Given the description of an element on the screen output the (x, y) to click on. 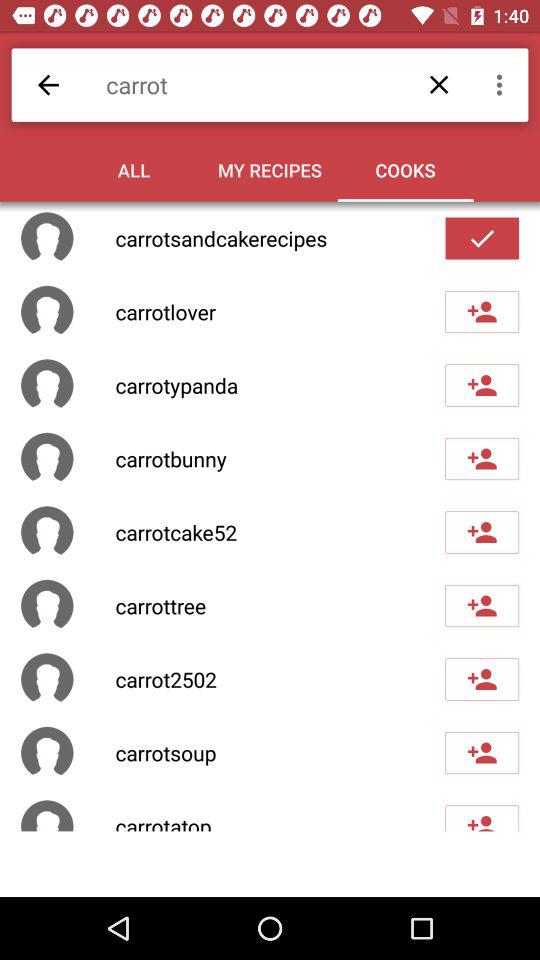
launch item next to the carrot item (501, 84)
